Given the description of an element on the screen output the (x, y) to click on. 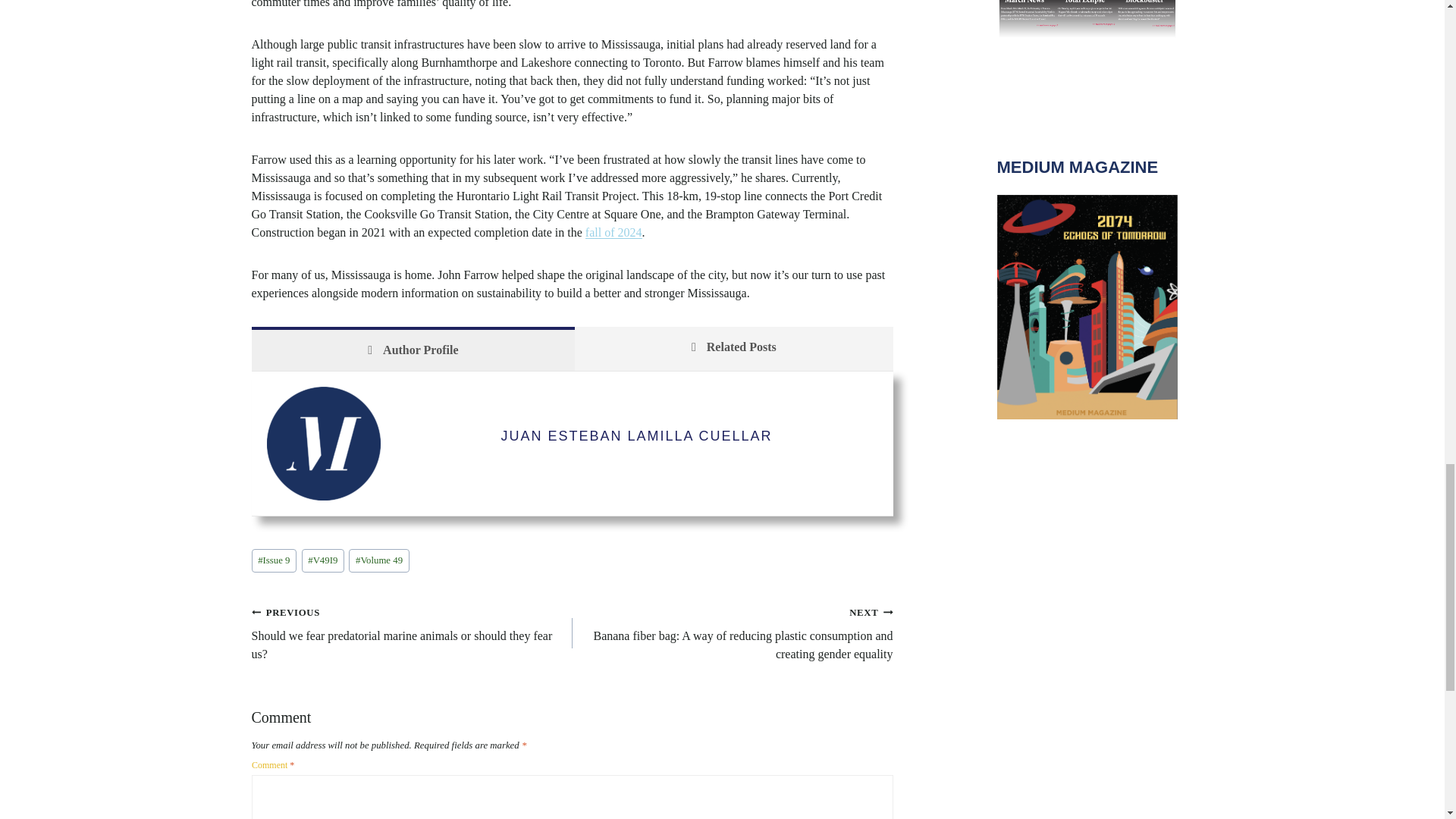
Issue 9 (274, 560)
Volume 49 (379, 560)
fall of 2024 (613, 232)
V49I9 (322, 560)
